Given the description of an element on the screen output the (x, y) to click on. 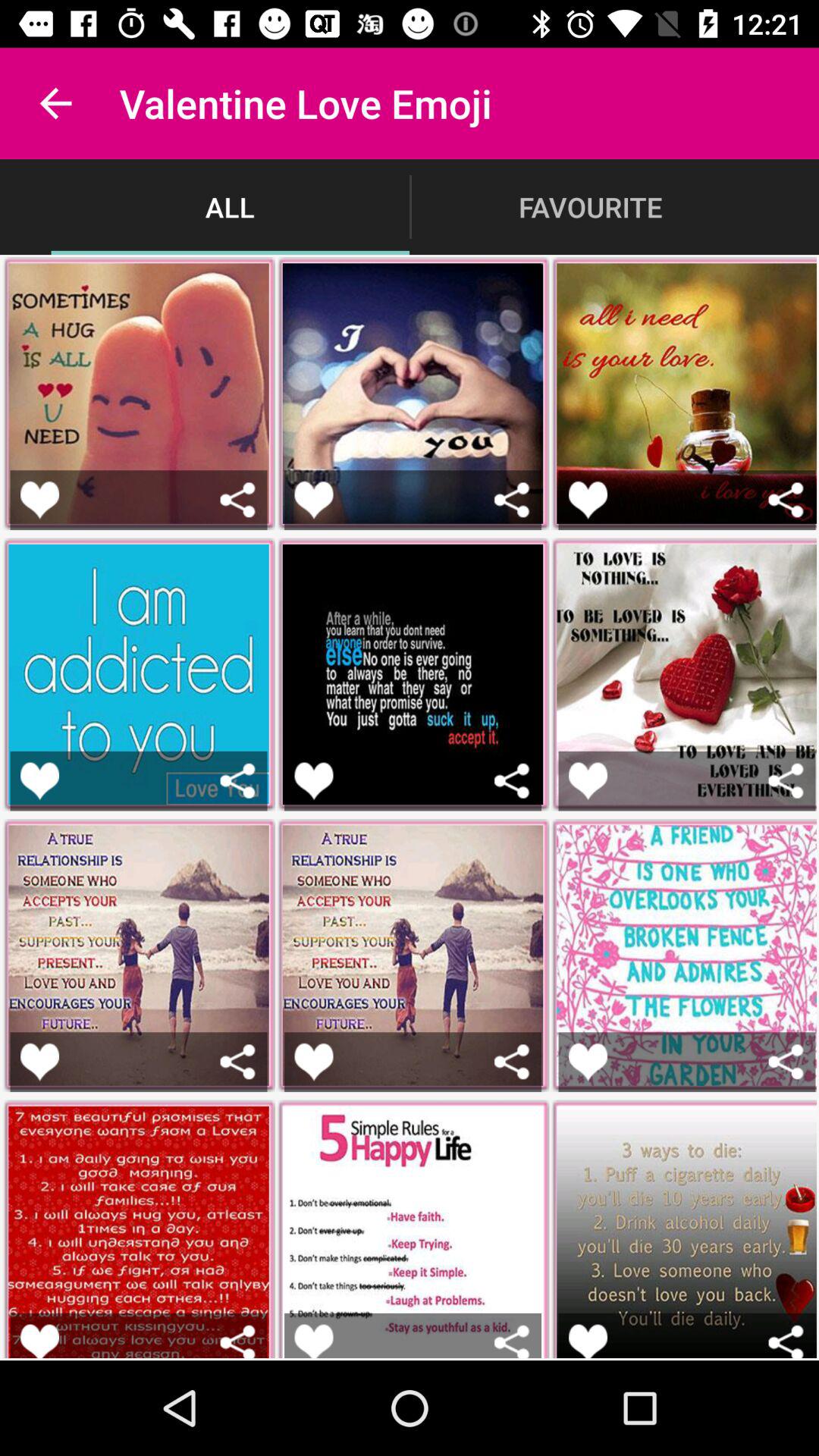
share the photo (511, 780)
